Given the description of an element on the screen output the (x, y) to click on. 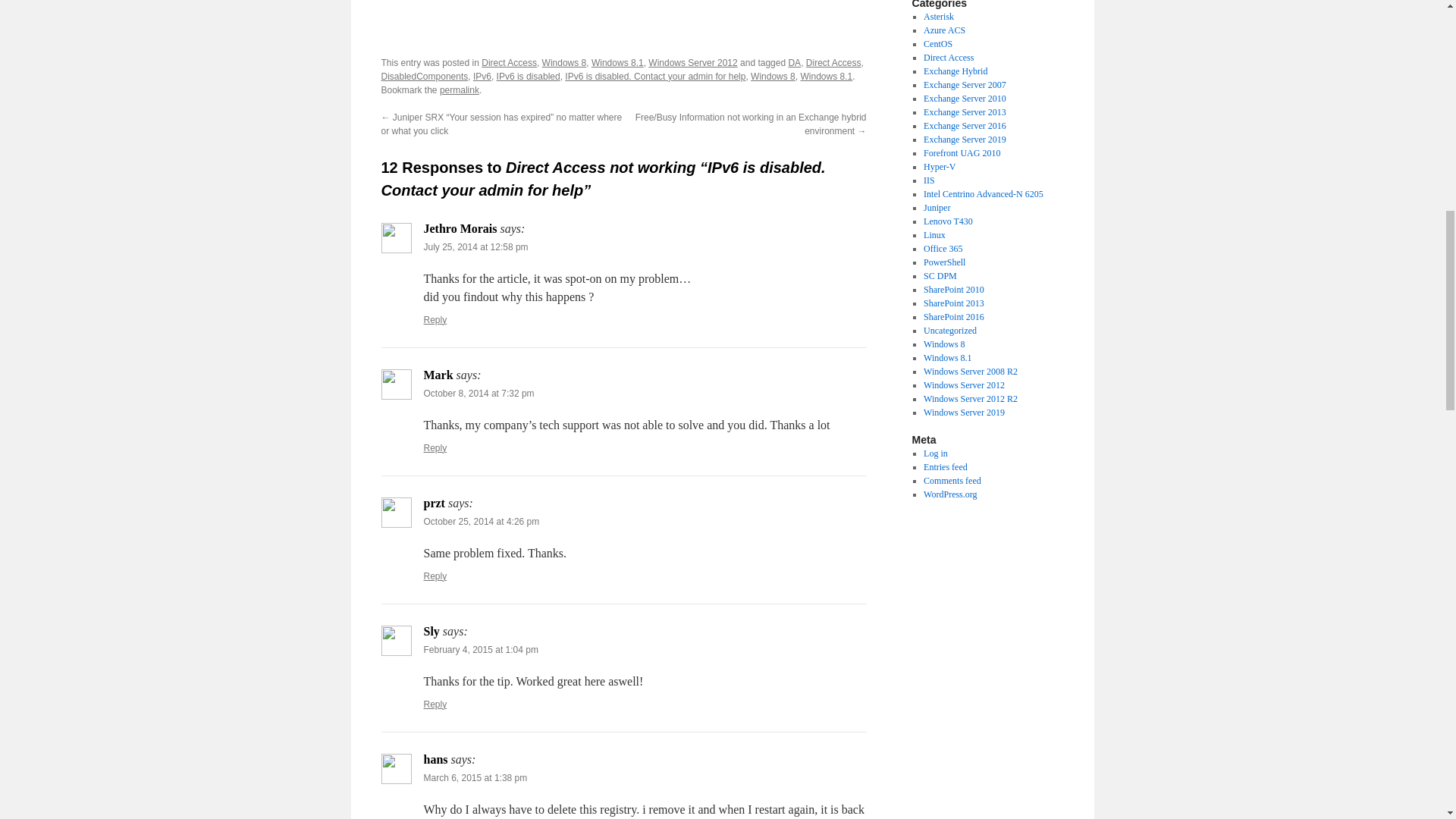
Reply (434, 448)
DisabledComponents (423, 76)
October 25, 2014 at 4:26 pm (480, 521)
DA (793, 62)
Reply (434, 575)
February 4, 2015 at 1:04 pm (480, 649)
Direct Access (509, 62)
Reply (434, 319)
IPv6 is disabled (528, 76)
Windows 8.1 (825, 76)
